Given the description of an element on the screen output the (x, y) to click on. 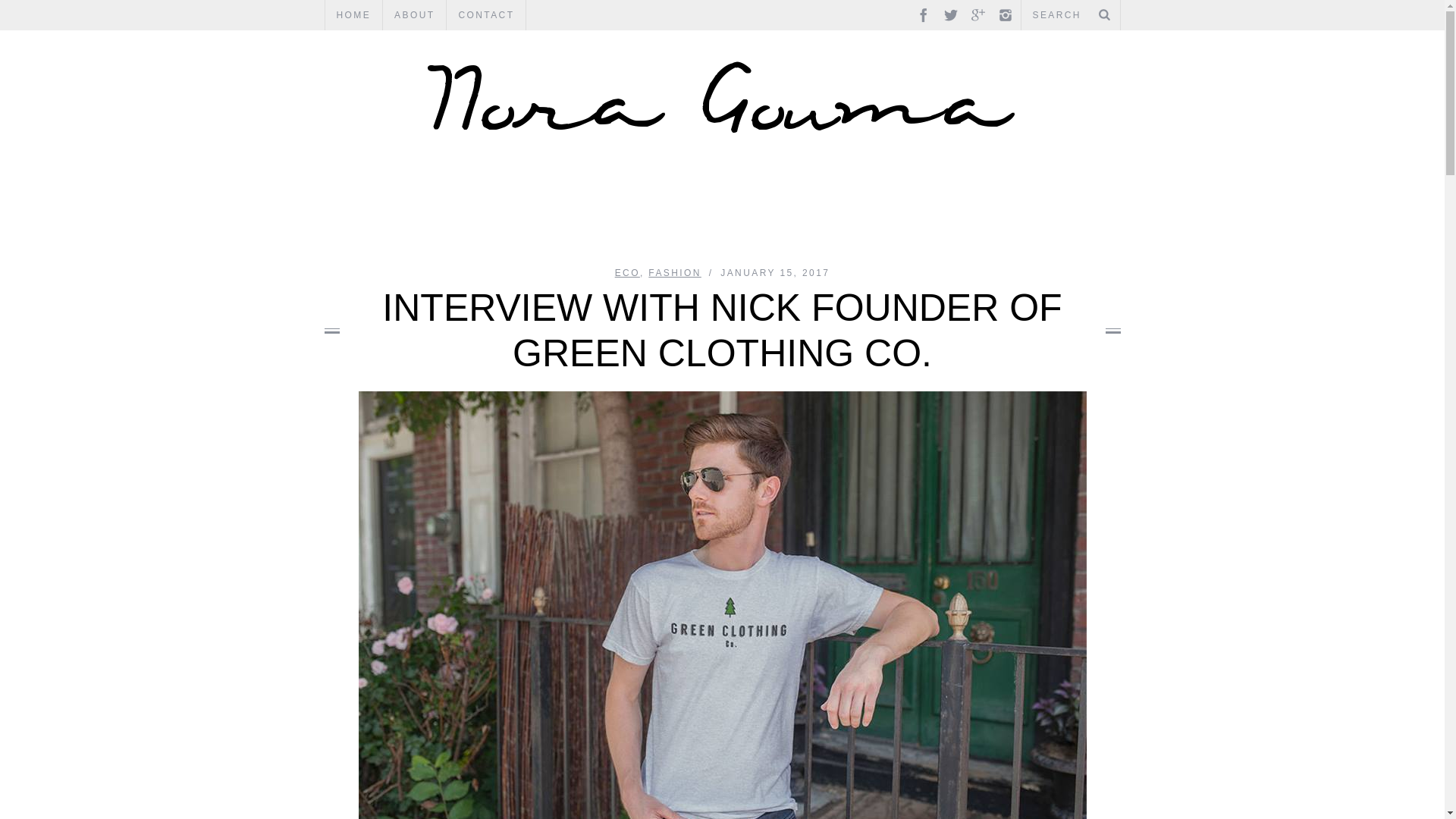
 -  (722, 96)
ABOUT (413, 14)
CONTACT (485, 14)
Search (1070, 15)
HOME (352, 14)
